Given the description of an element on the screen output the (x, y) to click on. 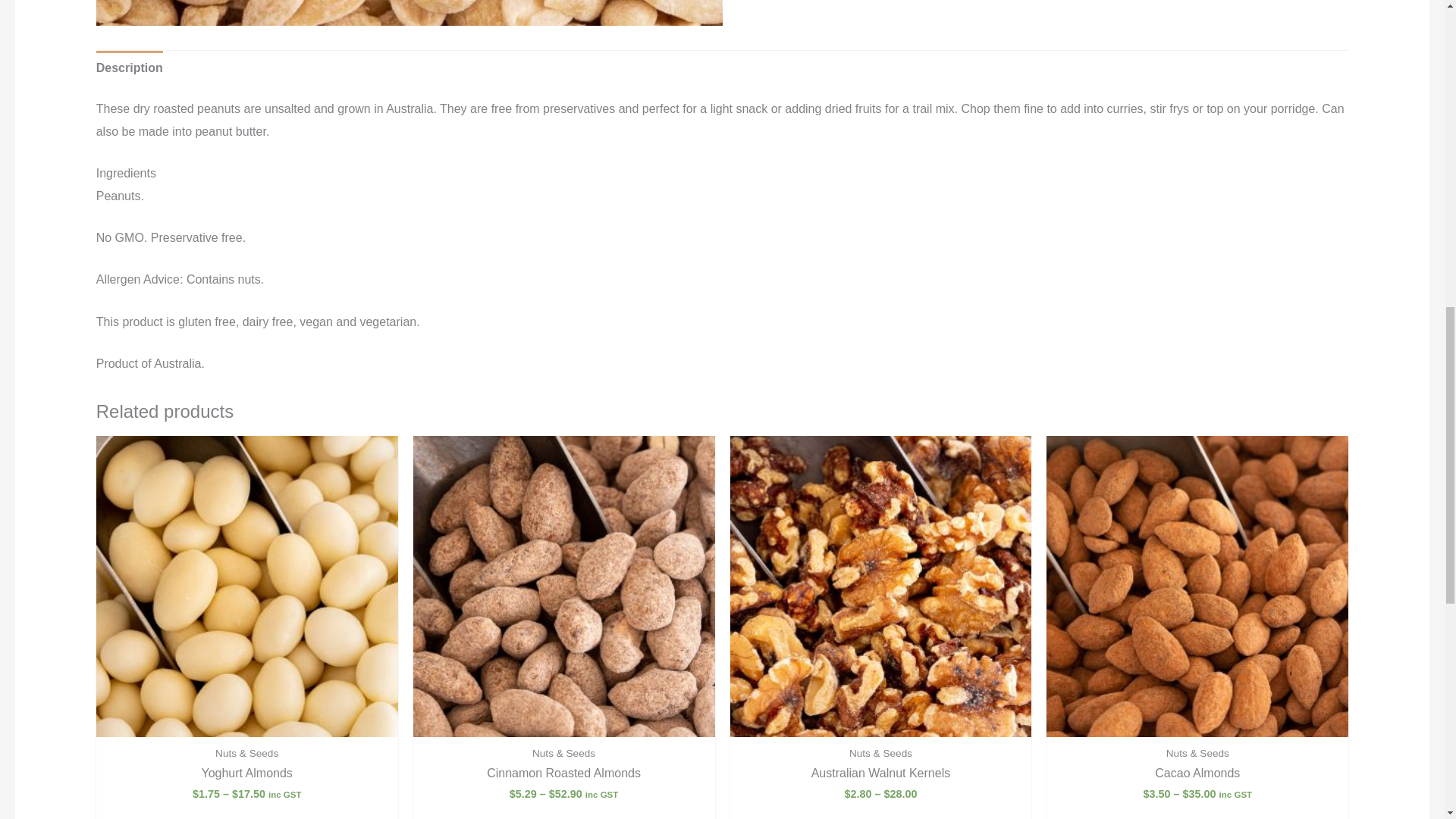
Dry Roasted Peanuts - Unsalted (409, 12)
